Given the description of an element on the screen output the (x, y) to click on. 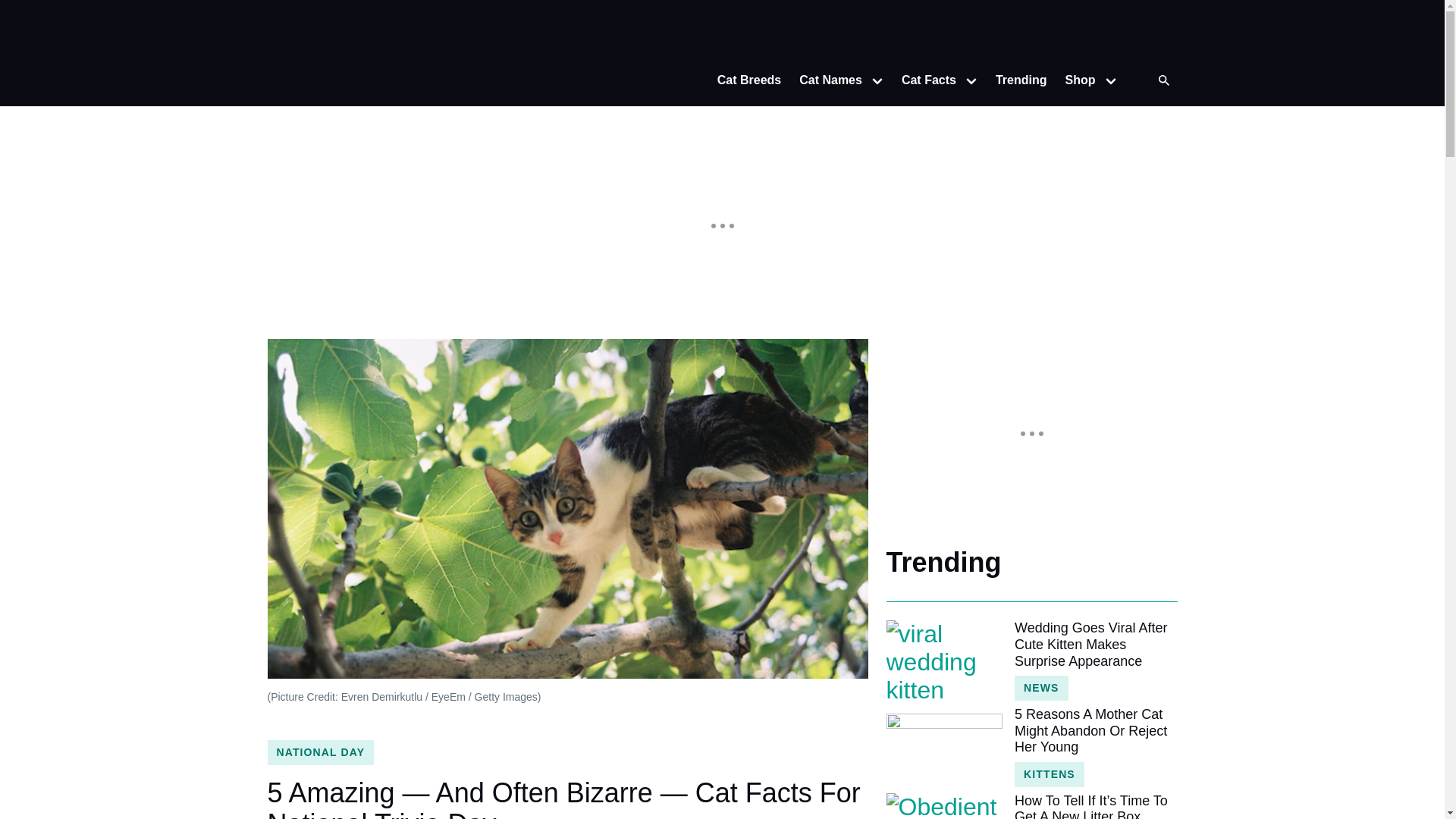
Open menu (971, 80)
Cat Breeds (748, 80)
5 Reasons A Mother Cat Might Abandon Or Reject Her Young (1095, 730)
Open menu (1109, 80)
Facebook (1130, 33)
5 Reasons A Mother Cat Might Abandon Or Reject Her Young (944, 744)
Cat Names (825, 80)
Open menu (876, 80)
Pinterest (1161, 33)
